Given the description of an element on the screen output the (x, y) to click on. 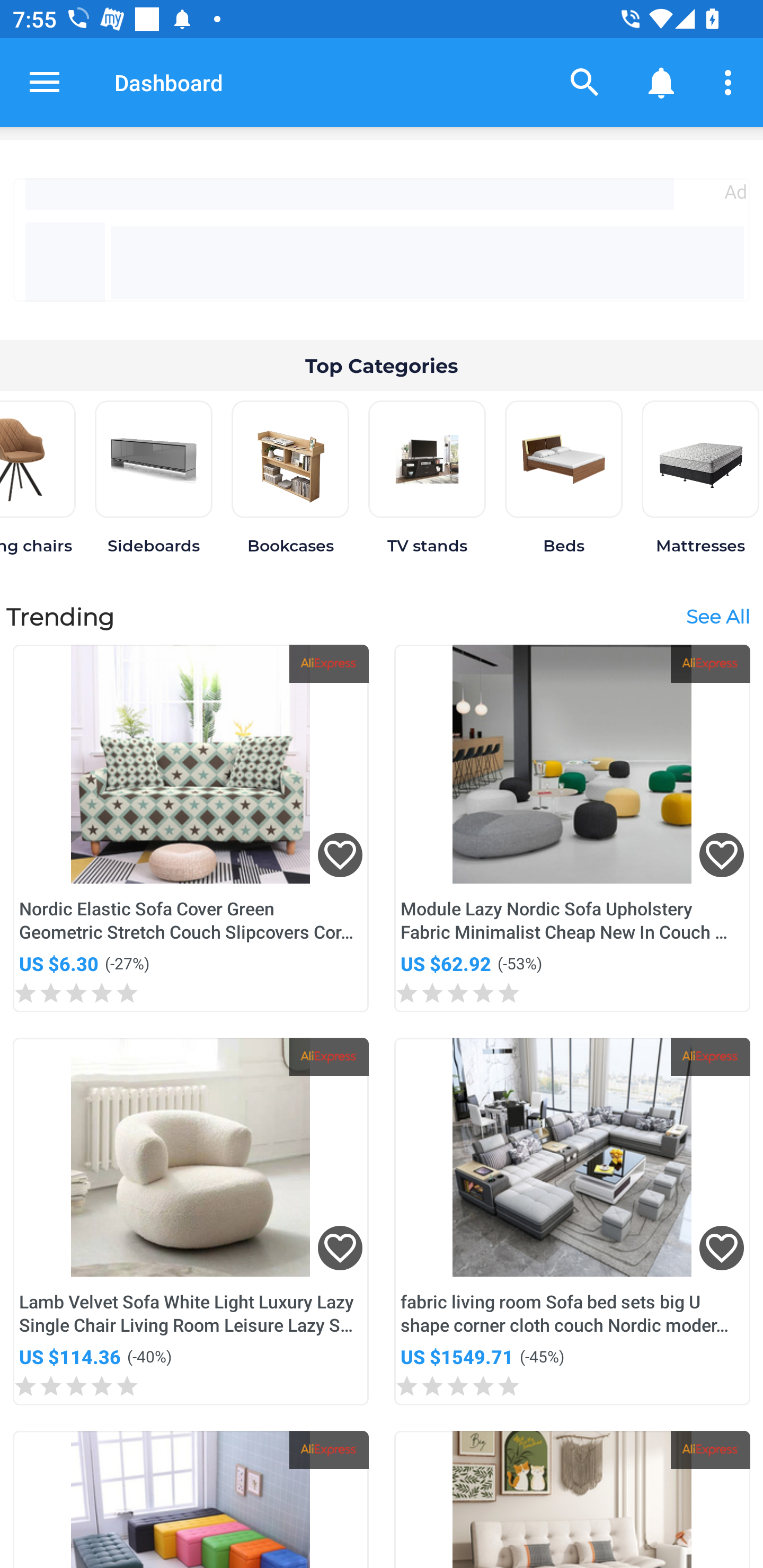
Open navigation drawer (44, 82)
Search (585, 81)
More options (731, 81)
See All (717, 615)
